Given the description of an element on the screen output the (x, y) to click on. 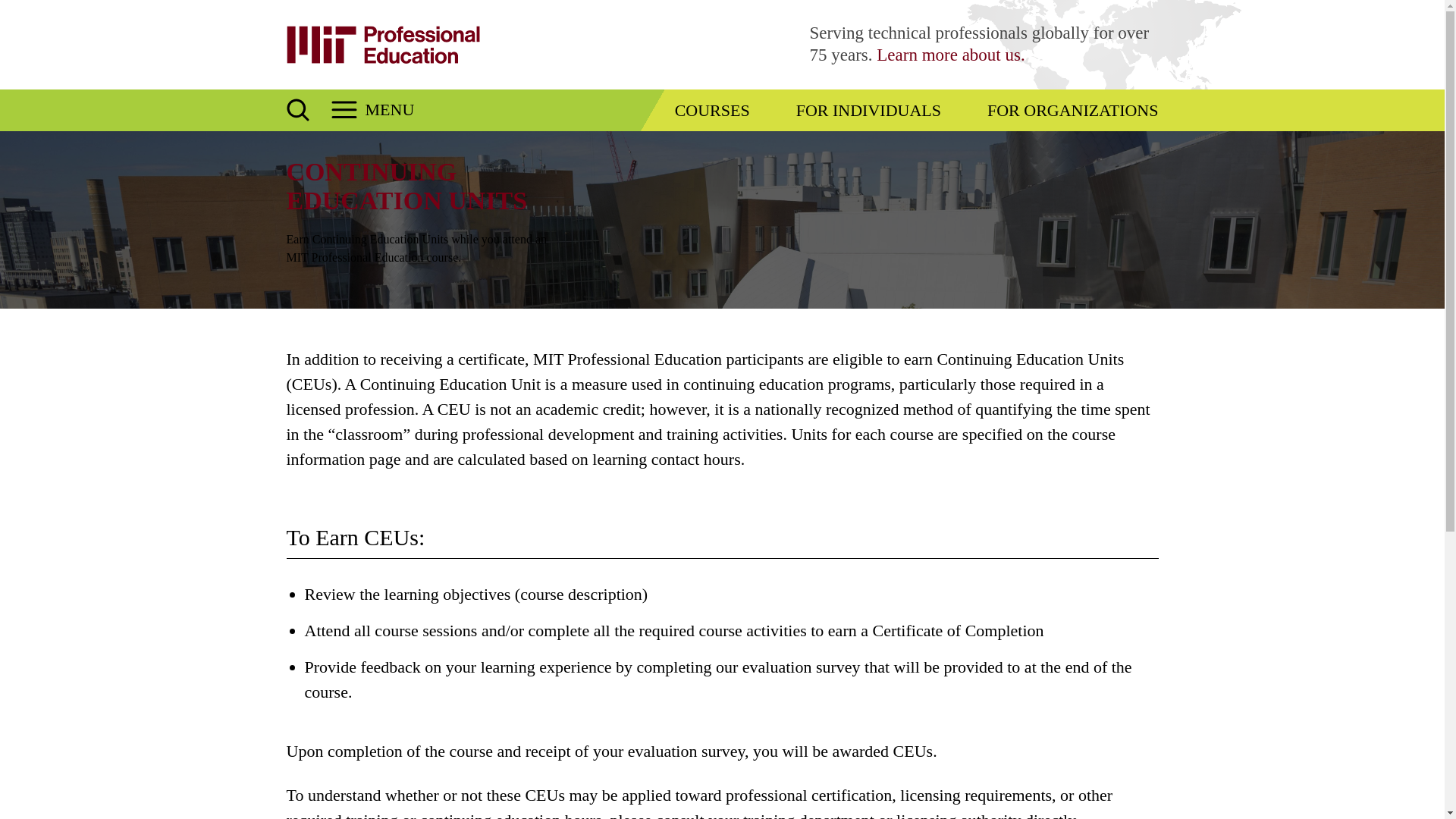
FOR ORGANIZATIONS (1072, 109)
ABOUT US (950, 54)
COURSES (712, 109)
Learn more about us. (950, 54)
MENU (371, 109)
FOR INDIVIDUALS (868, 109)
